Given the description of an element on the screen output the (x, y) to click on. 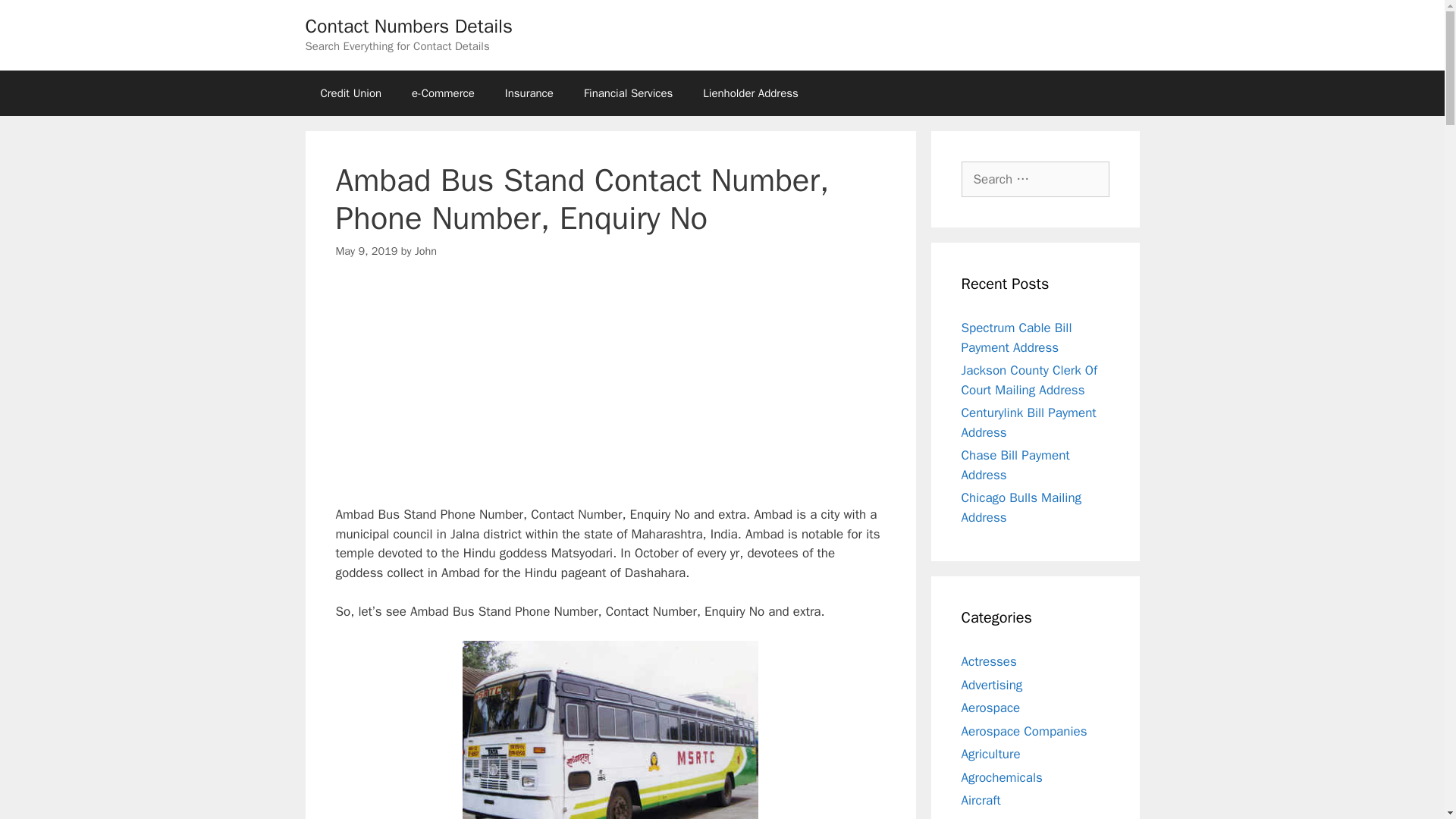
Agrochemicals (1001, 776)
Spectrum Cable Bill Payment Address (1015, 337)
Search (35, 18)
Agriculture (990, 754)
Financial Services (628, 92)
Credit Union (350, 92)
Search for: (1034, 178)
Advertisement (609, 391)
Advertising (991, 684)
Aircraft (980, 800)
Airlines (981, 817)
Actresses (988, 661)
Lienholder Address (750, 92)
Insurance (529, 92)
View all posts by John (425, 250)
